Given the description of an element on the screen output the (x, y) to click on. 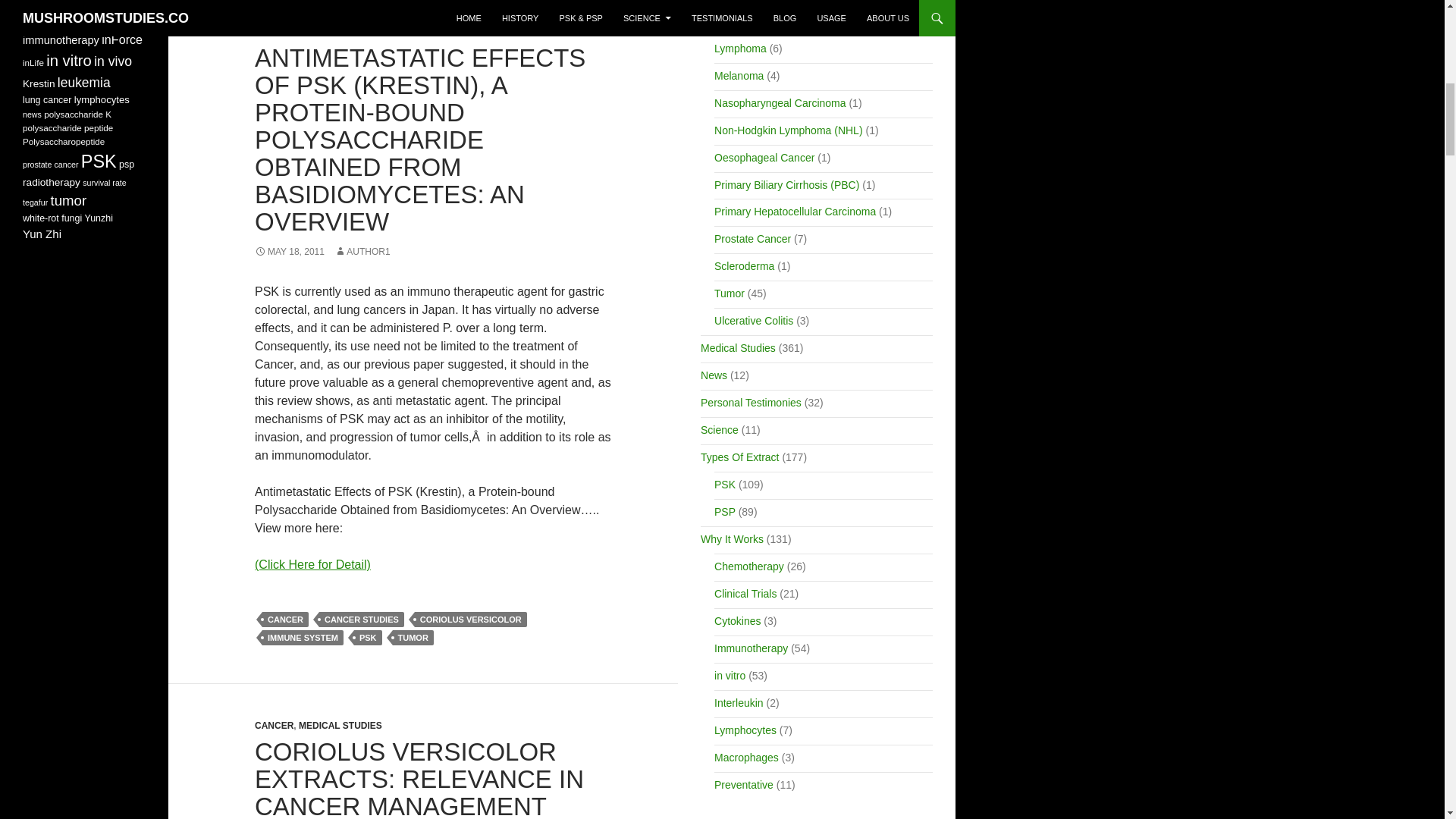
CANCER (274, 31)
MEDICAL STUDIES (339, 31)
MAY 18, 2011 (289, 251)
PSP (395, 31)
